Given the description of an element on the screen output the (x, y) to click on. 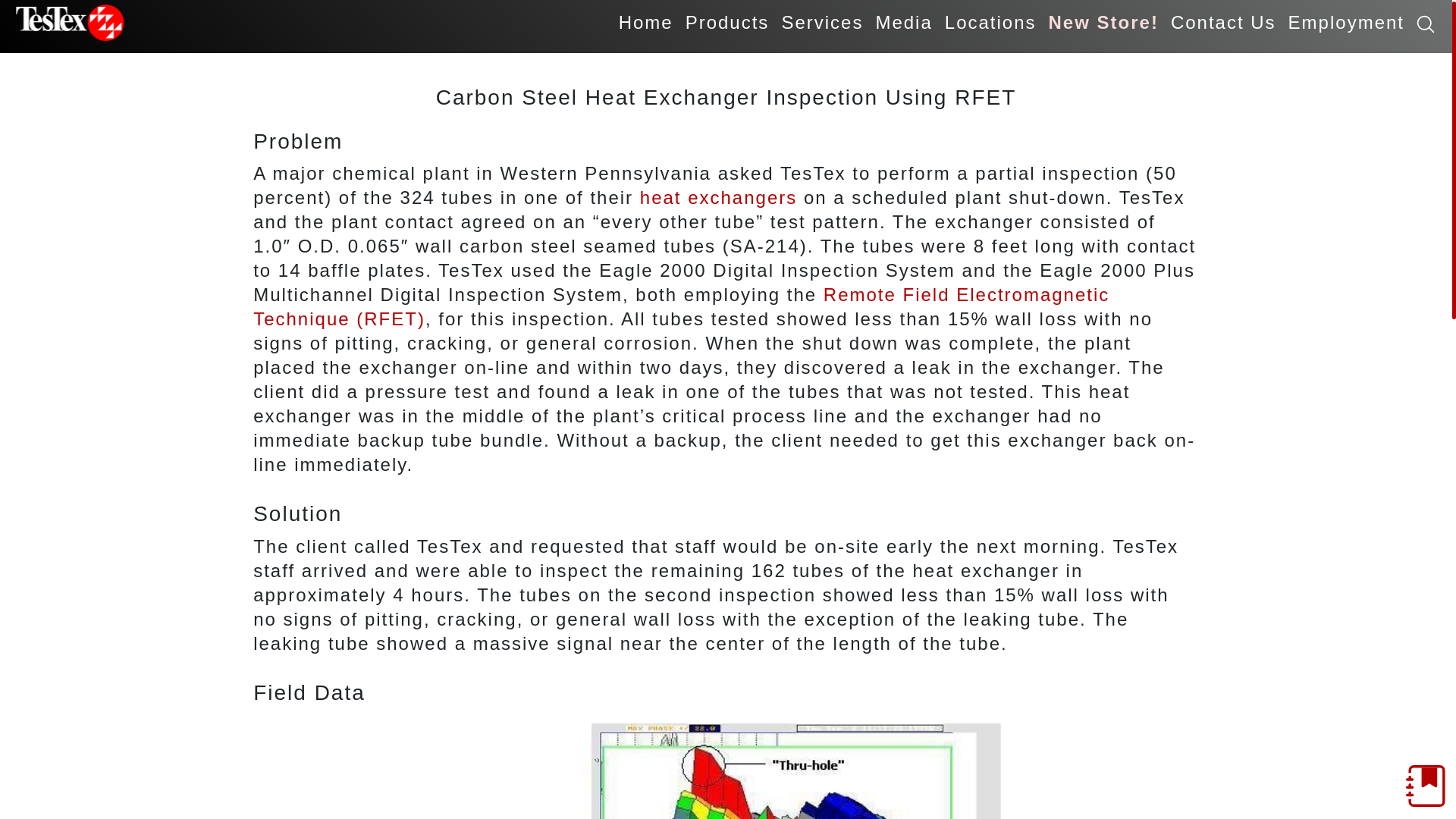
Employment (1346, 22)
Media (903, 22)
Services (821, 22)
Products (727, 22)
New Store! (1103, 22)
Contact Us (1223, 22)
Home (645, 22)
Locations (990, 22)
